Given the description of an element on the screen output the (x, y) to click on. 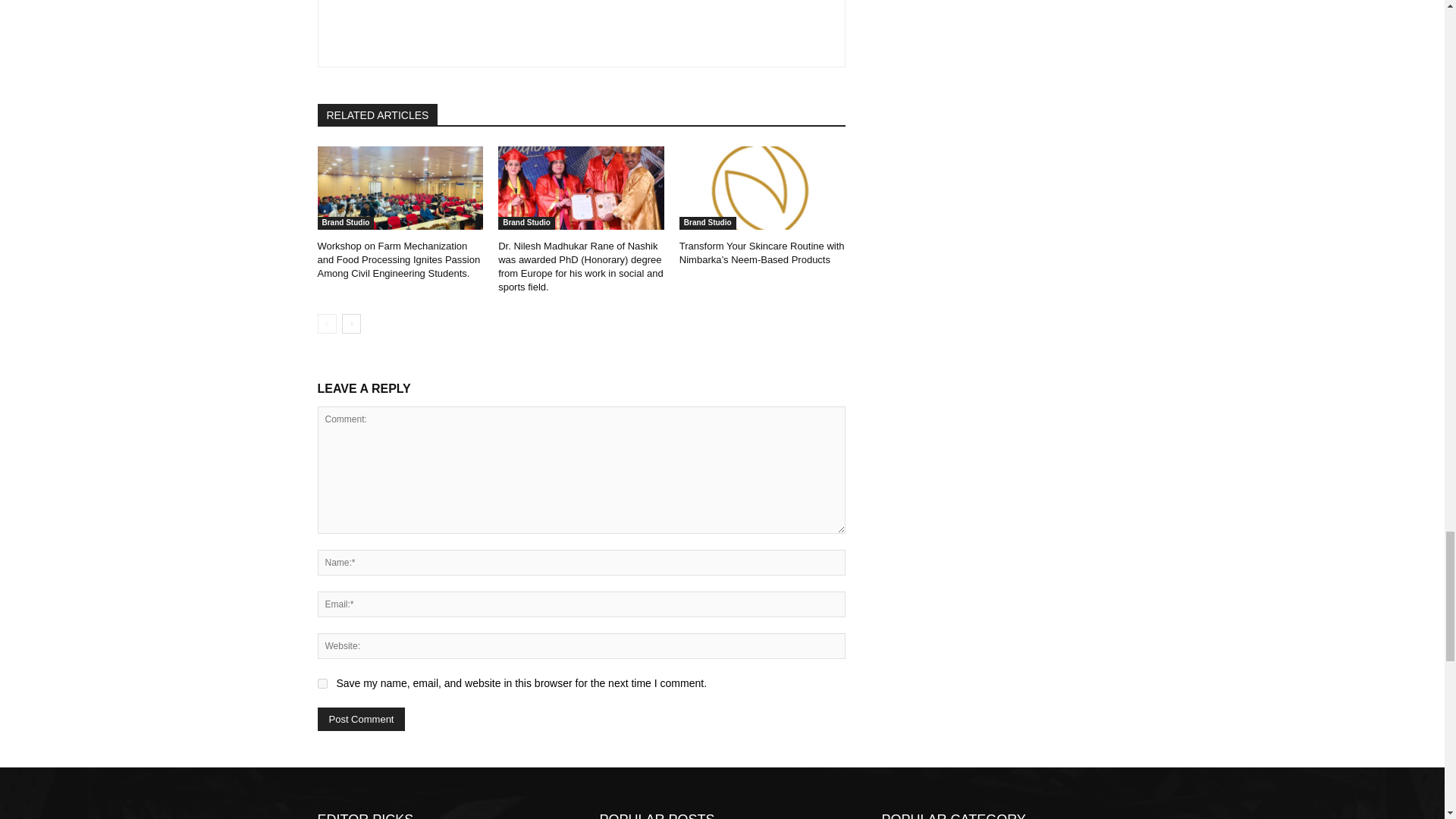
yes (321, 683)
Post Comment (360, 719)
